Given the description of an element on the screen output the (x, y) to click on. 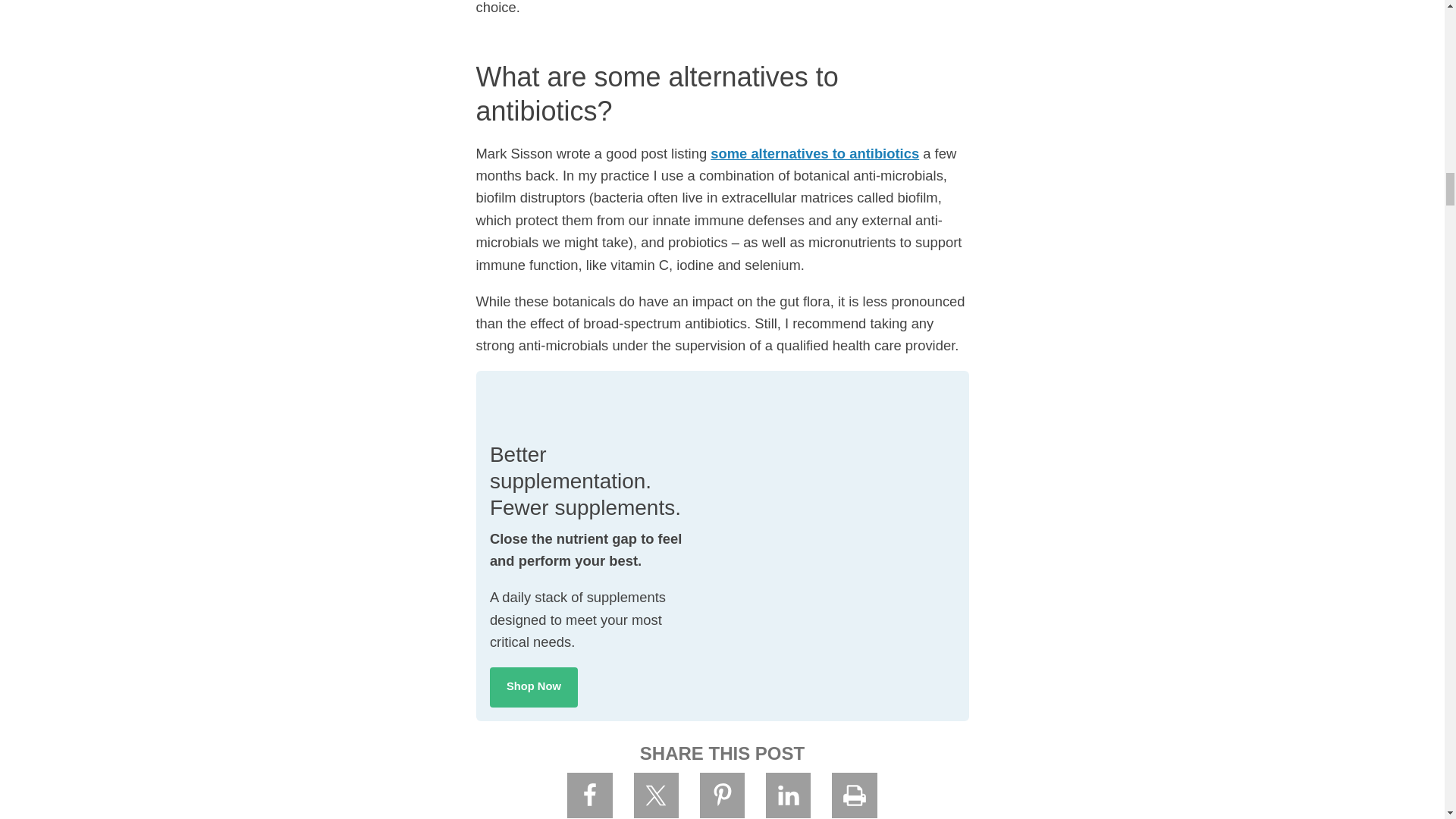
Share on Facebook (589, 795)
Print this Page (854, 795)
Share on LinkedIn (787, 795)
Share on Pinterest (722, 795)
Share on Twitter (656, 795)
